Given the description of an element on the screen output the (x, y) to click on. 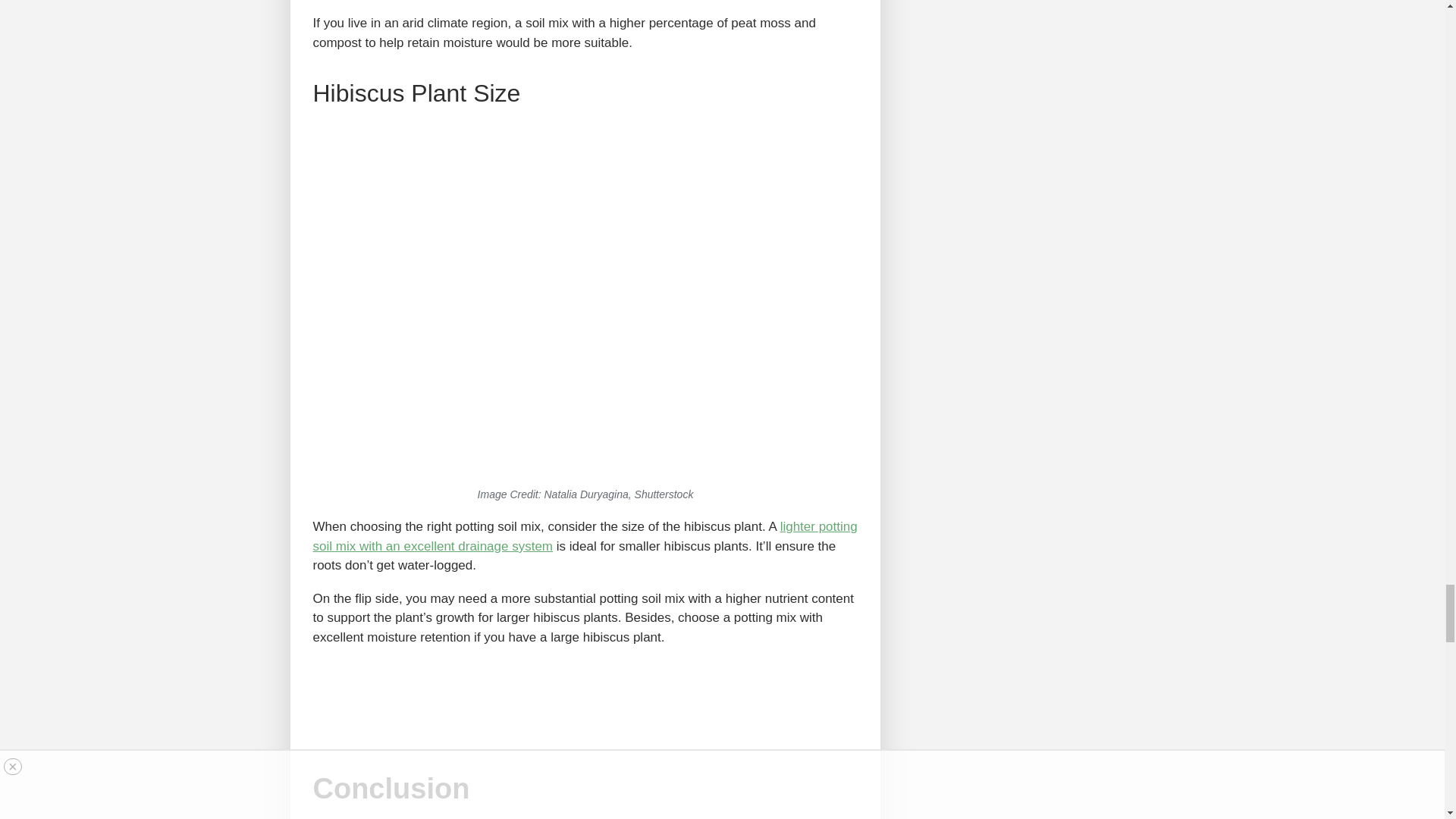
lighter potting soil mix with an excellent drainage system (585, 536)
